Given the description of an element on the screen output the (x, y) to click on. 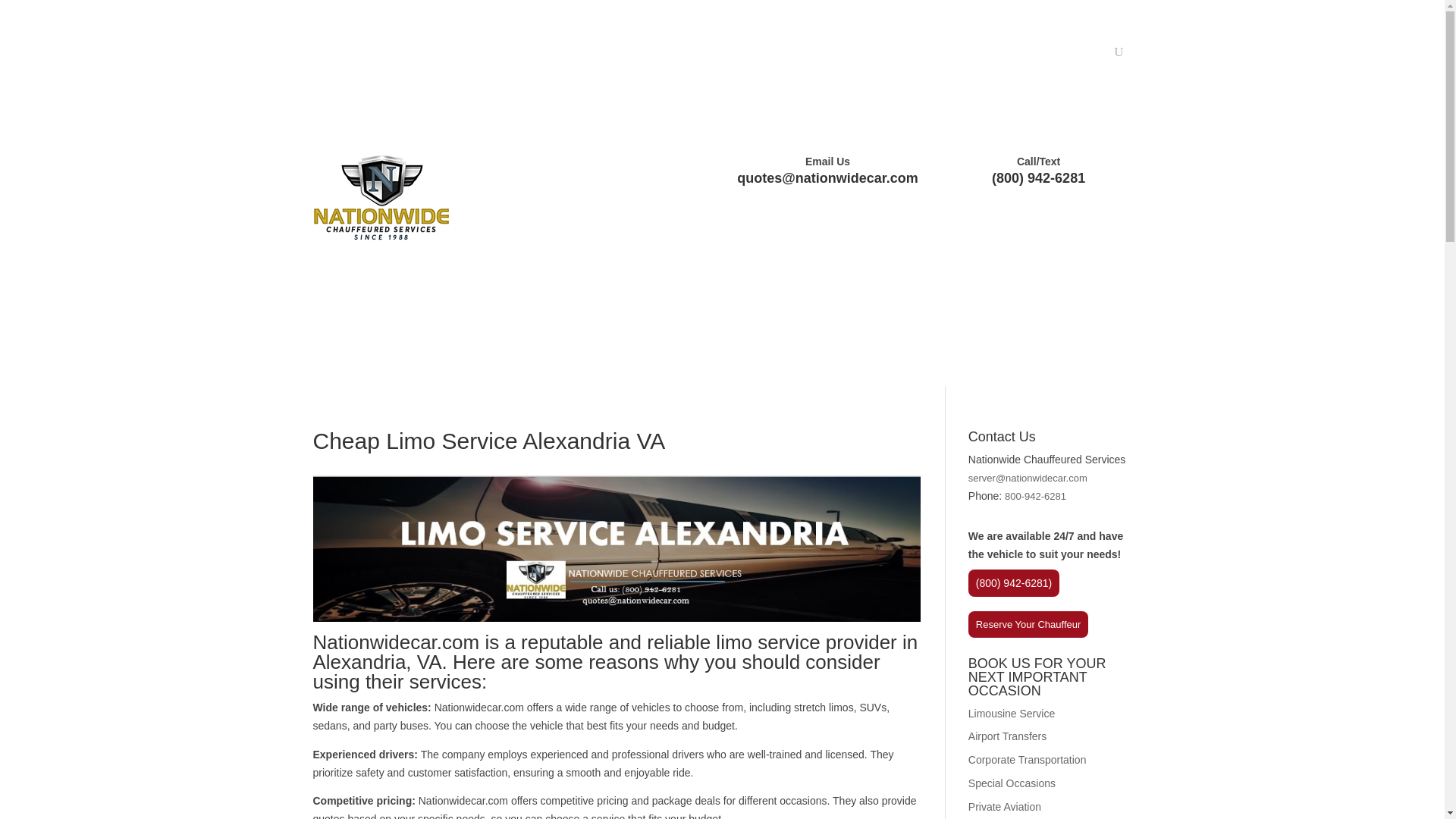
Follow on Facebook (324, 52)
Follow on Twitter (354, 52)
Contact (1086, 54)
Videos (869, 54)
Charter Bus Rental (616, 336)
OUR SERVICES (500, 336)
SPECIAL OCCASION (746, 336)
Our Fleet (924, 54)
Nationwide Car (380, 196)
Home (421, 336)
